Given the description of an element on the screen output the (x, y) to click on. 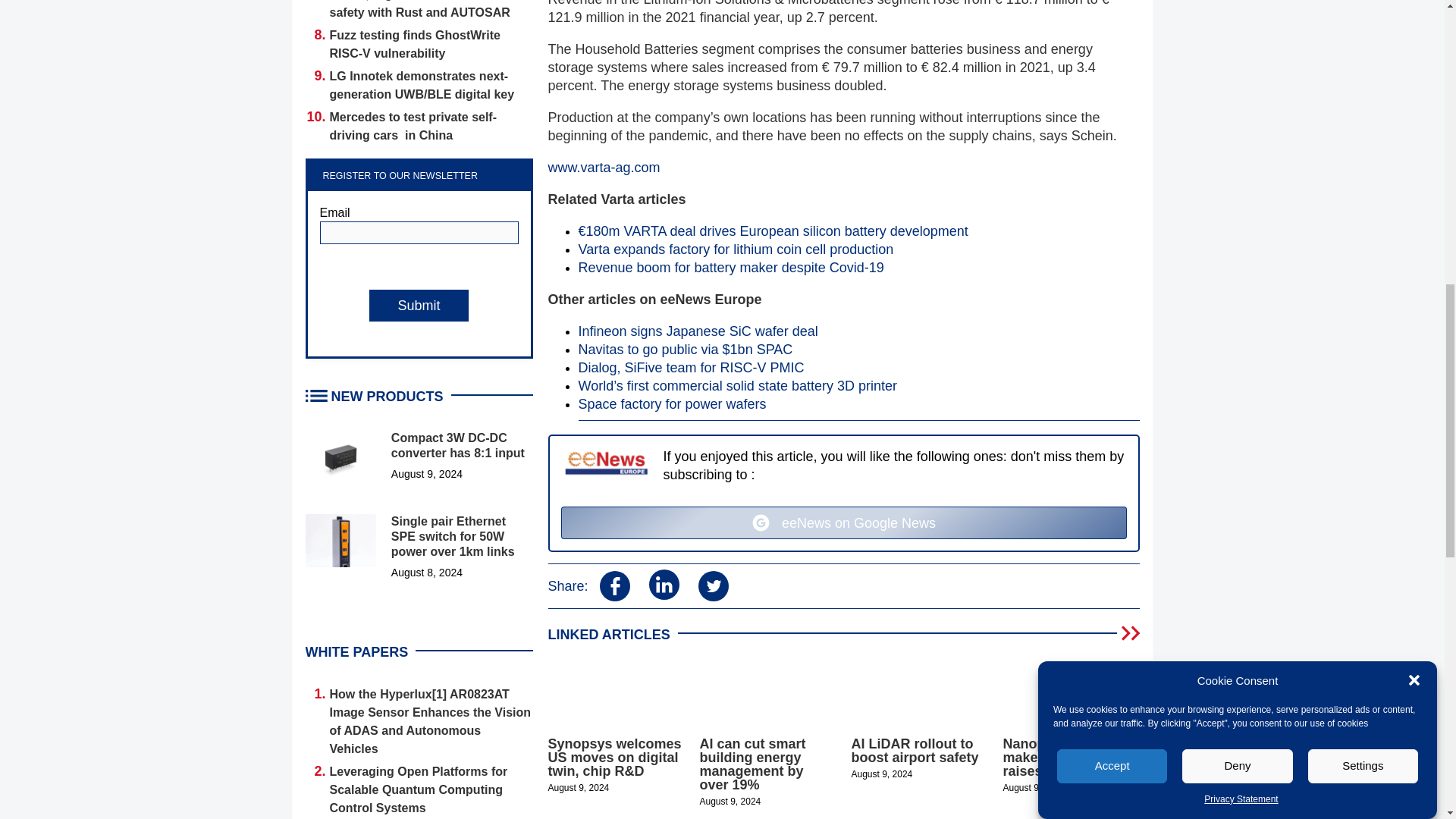
Accept (1112, 265)
Privacy Statement (1241, 100)
Deny (1237, 235)
Settings (1362, 204)
Submit (418, 305)
